Given the description of an element on the screen output the (x, y) to click on. 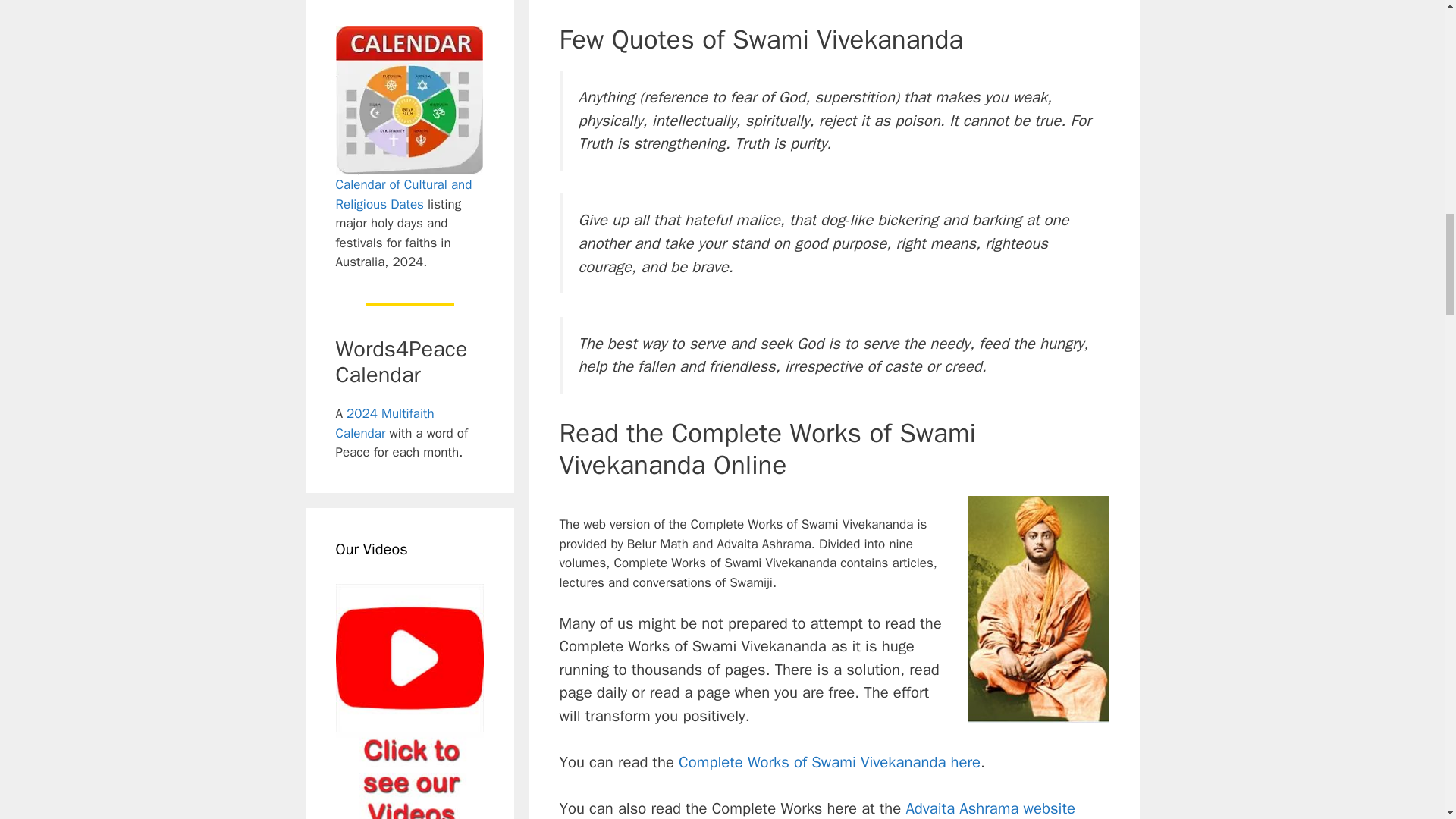
Complete Works of Swami Vivekananda here (828, 762)
Advaita Ashrama website (990, 808)
